Given the description of an element on the screen output the (x, y) to click on. 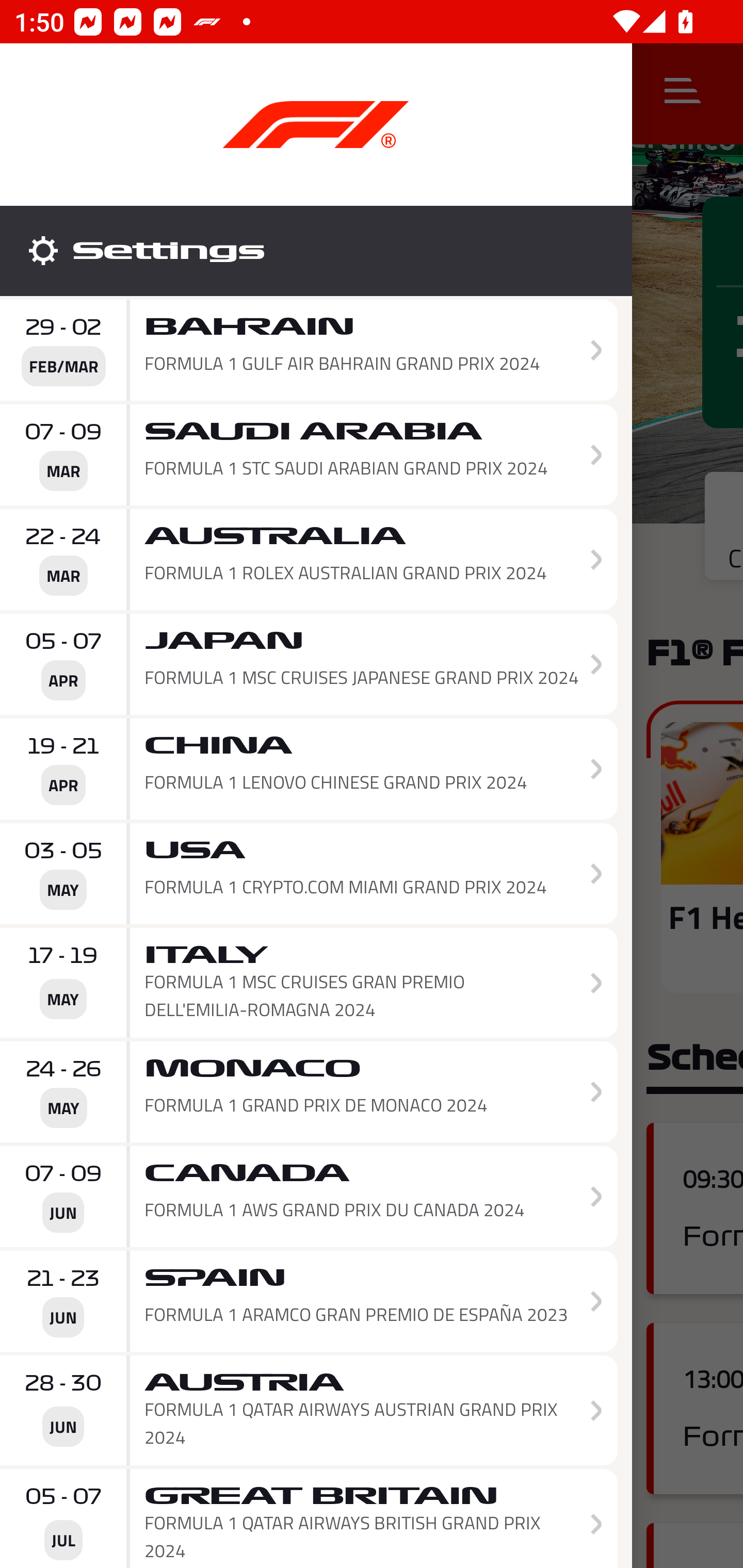
Settings (316, 250)
